Given the description of an element on the screen output the (x, y) to click on. 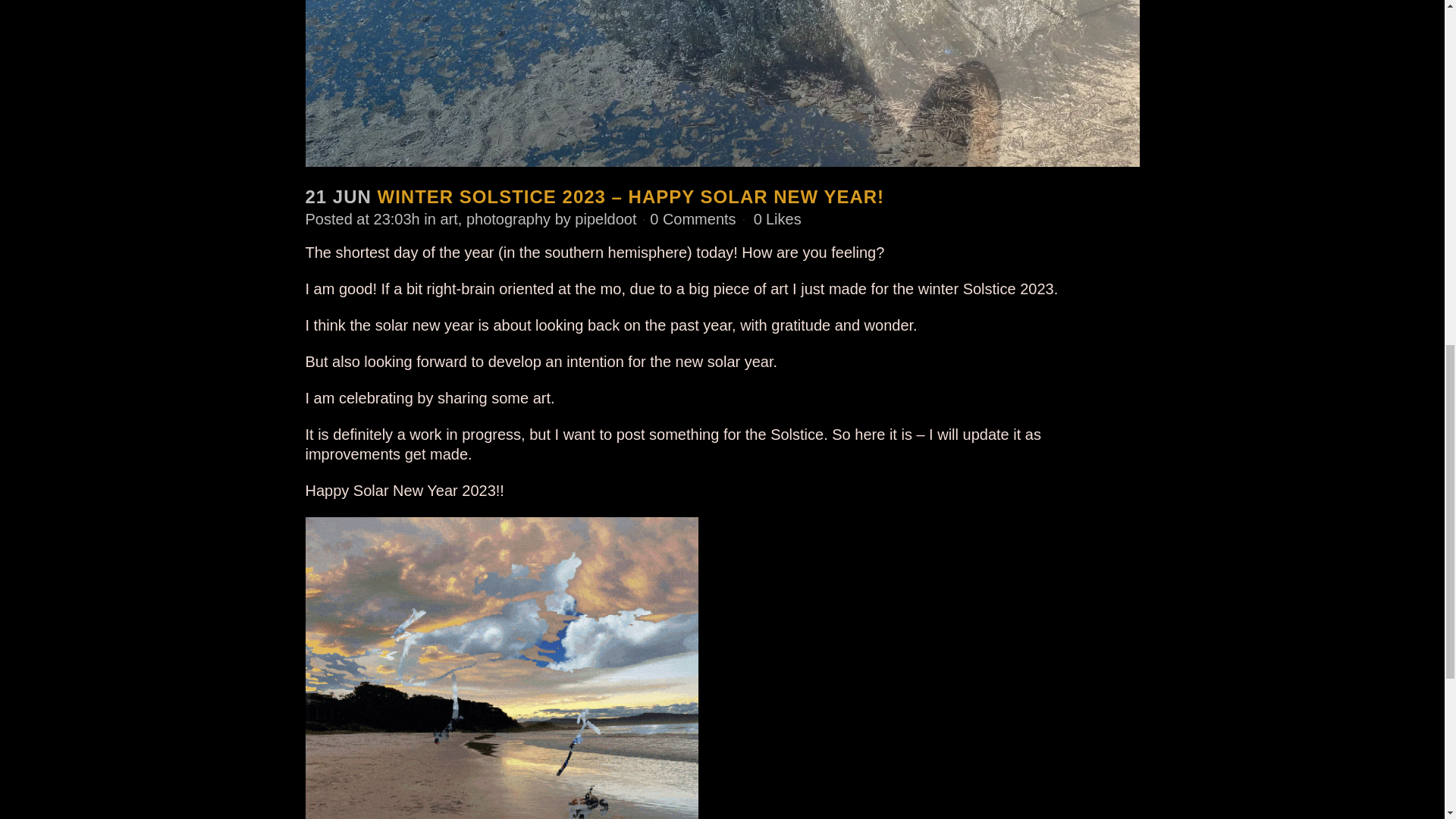
0 Likes (778, 218)
pipeldoot (605, 218)
0 Comments (692, 218)
Like this (778, 218)
photography (507, 218)
art (448, 218)
